Given the description of an element on the screen output the (x, y) to click on. 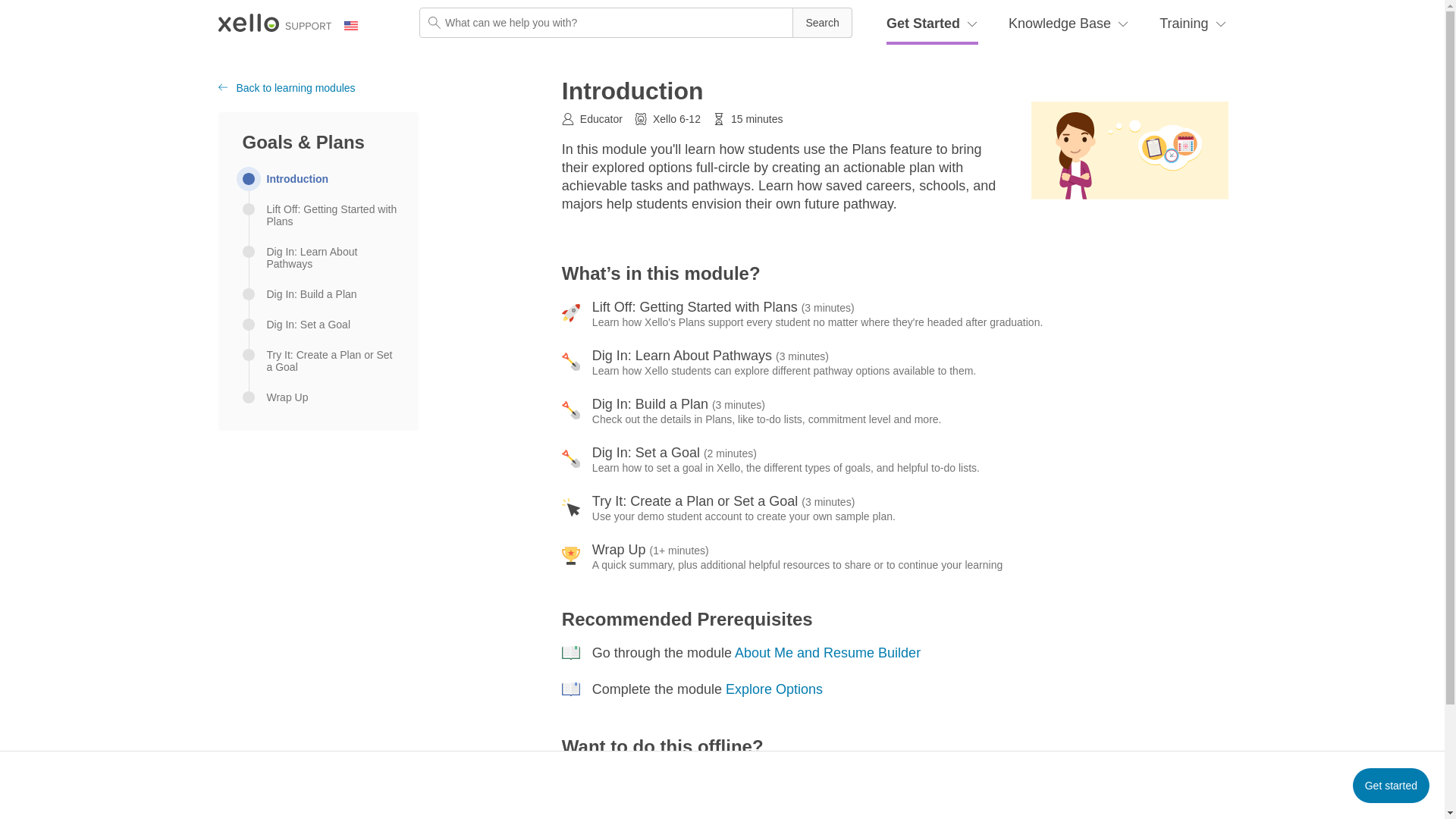
Change language (358, 25)
Search (821, 22)
Navigate next (1390, 785)
